Given the description of an element on the screen output the (x, y) to click on. 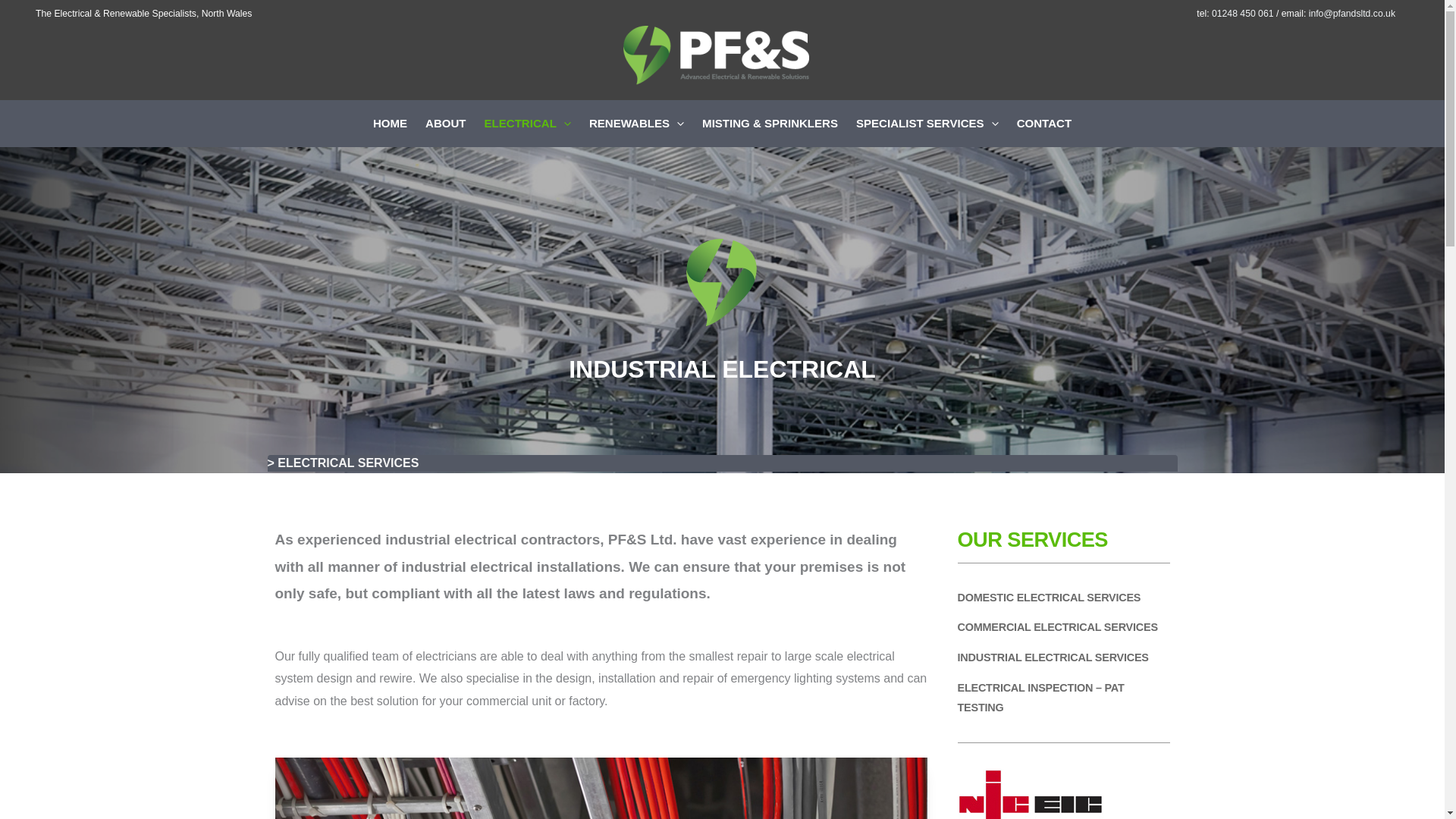
ABOUT (446, 123)
INDUSTRIAL ELECTRICAL SERVICES (1052, 657)
RENEWABLES (636, 123)
CONTACT (1043, 123)
ELECTRICAL (527, 123)
HOME (390, 123)
COMMERCIAL ELECTRICAL SERVICES (1056, 627)
01248 450 061 (1242, 13)
DOMESTIC ELECTRICAL SERVICES (1048, 598)
SPECIALIST SERVICES (927, 123)
